Given the description of an element on the screen output the (x, y) to click on. 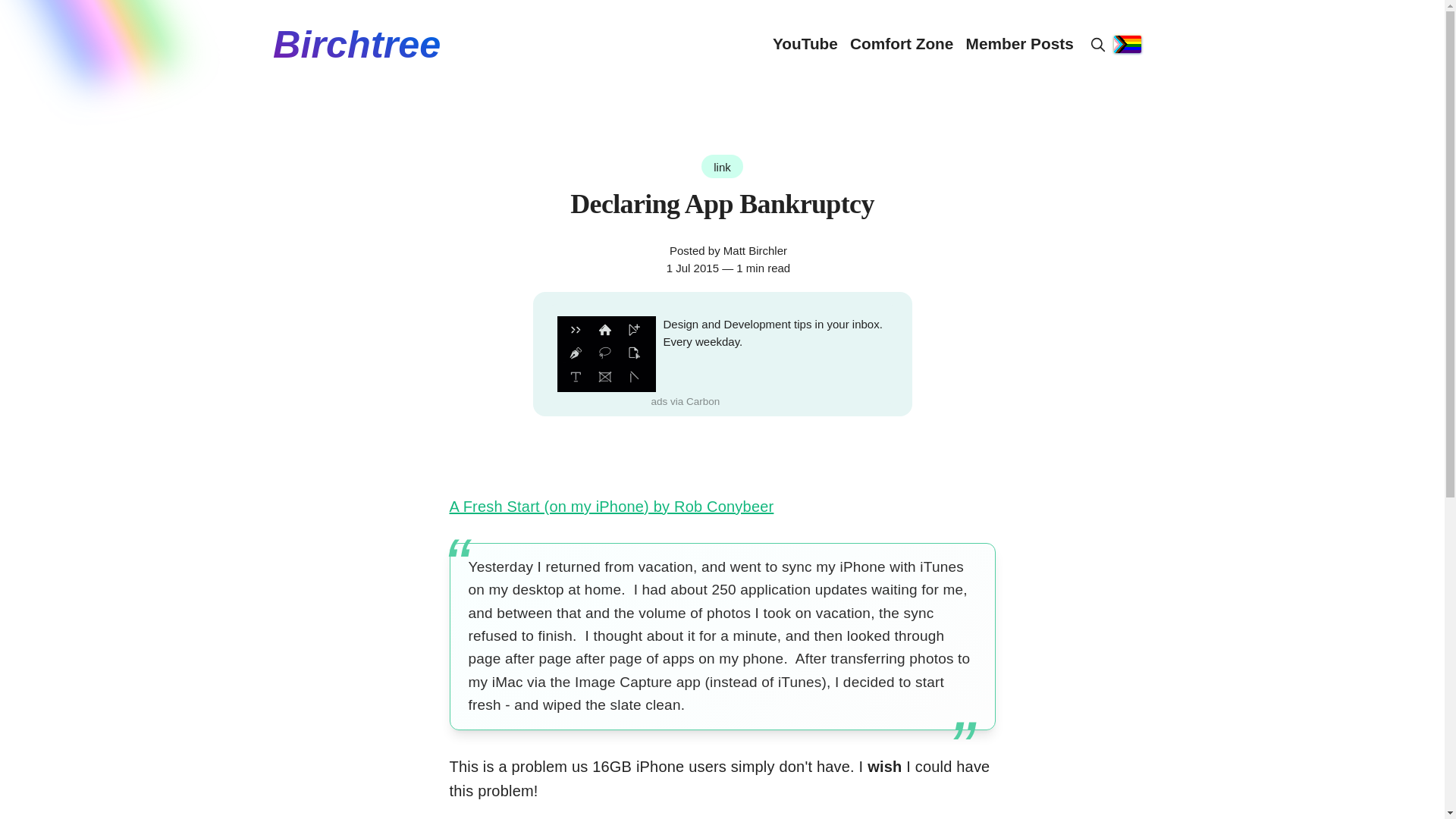
Matt Birchler (755, 250)
Member Posts (1020, 44)
Birchtree (357, 44)
Design and Development tips in your inbox. Every weekday. (770, 333)
link (721, 166)
YouTube (805, 44)
ads via Carbon (684, 402)
Comfort Zone (901, 44)
